Given the description of an element on the screen output the (x, y) to click on. 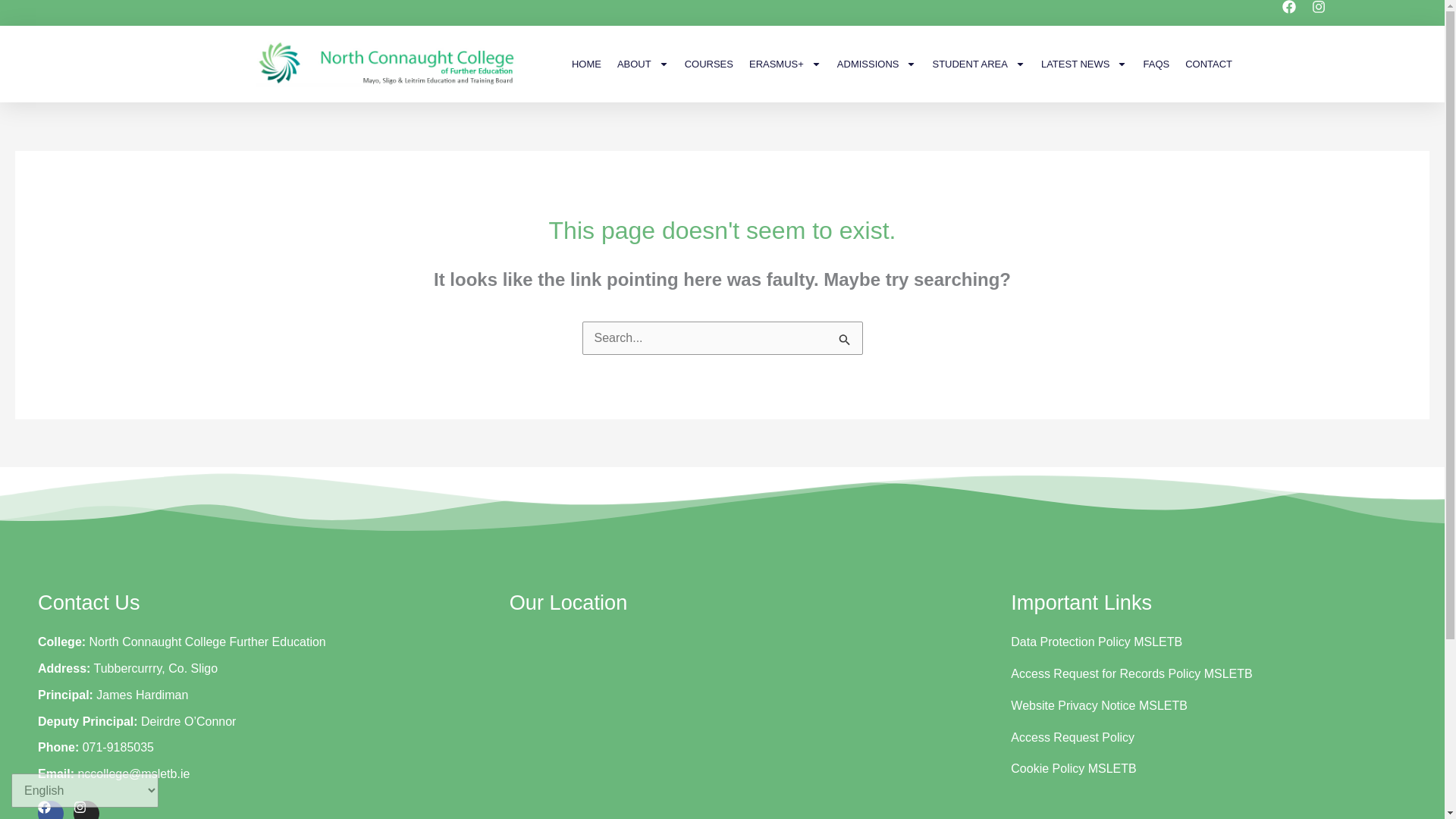
North Connaught College (737, 724)
